Given the description of an element on the screen output the (x, y) to click on. 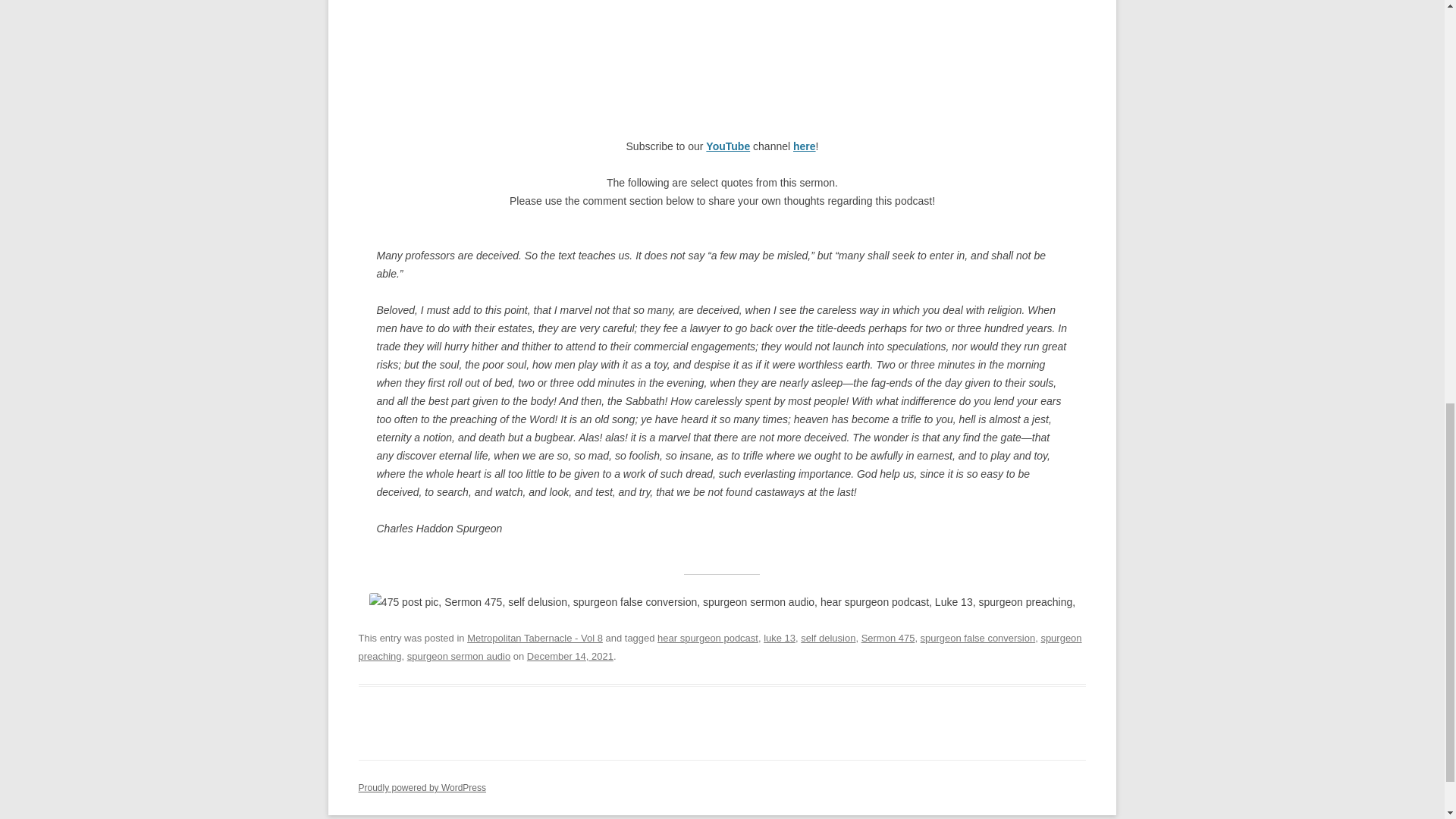
Metropolitan Tabernacle - Vol 8 (534, 637)
spurgeon false conversion (977, 637)
December 14, 2021 (569, 655)
Semantic Personal Publishing Platform (422, 787)
hear spurgeon podcast (708, 637)
Proudly powered by WordPress (422, 787)
here (804, 146)
3:30 AM (569, 655)
YouTube (727, 146)
spurgeon preaching (719, 646)
